Given the description of an element on the screen output the (x, y) to click on. 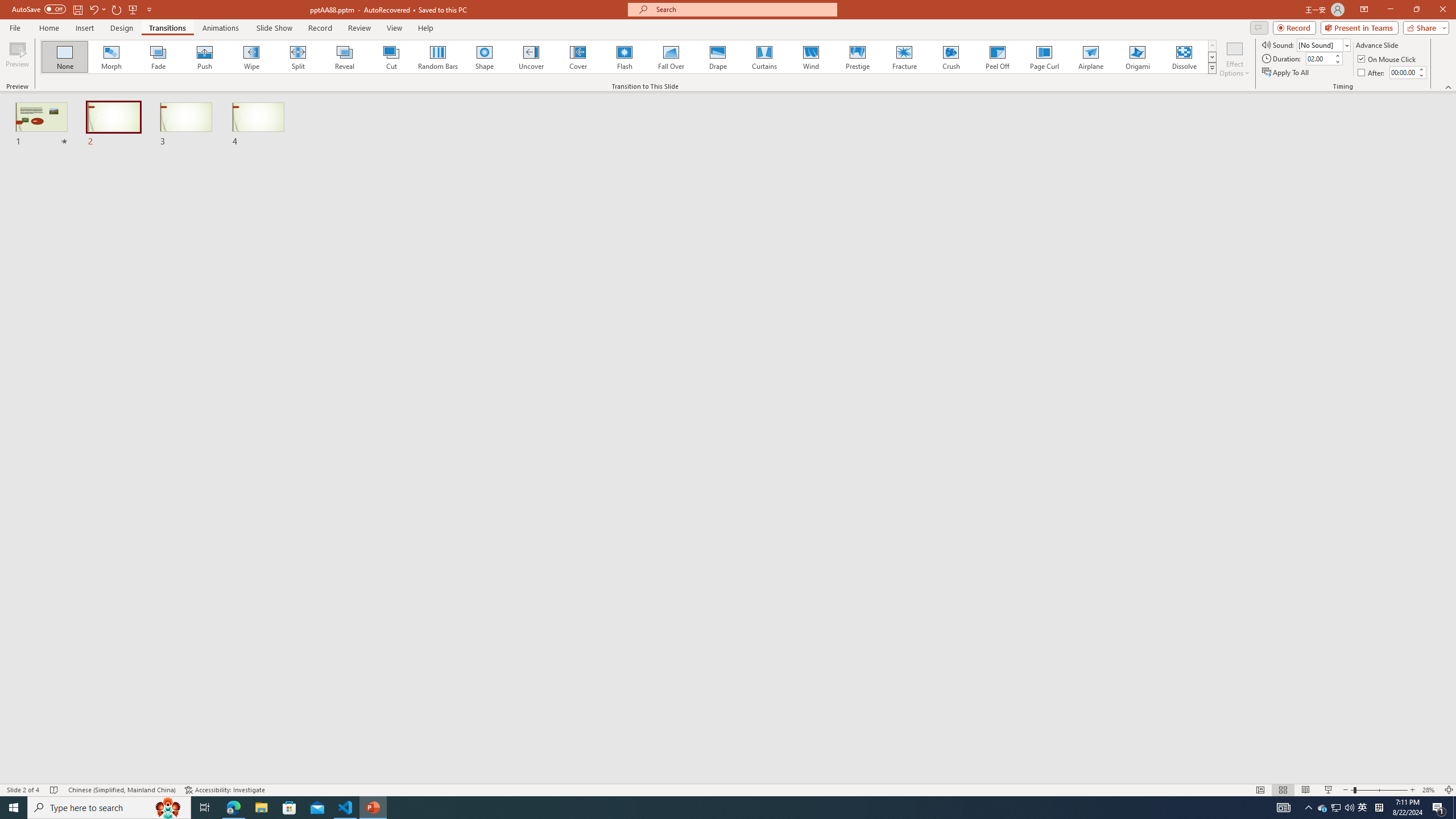
Random Bars (437, 56)
After (1372, 72)
Origami (1136, 56)
After (1403, 72)
Airplane (1090, 56)
Reveal (344, 56)
Flash (624, 56)
Fade (158, 56)
